Given the description of an element on the screen output the (x, y) to click on. 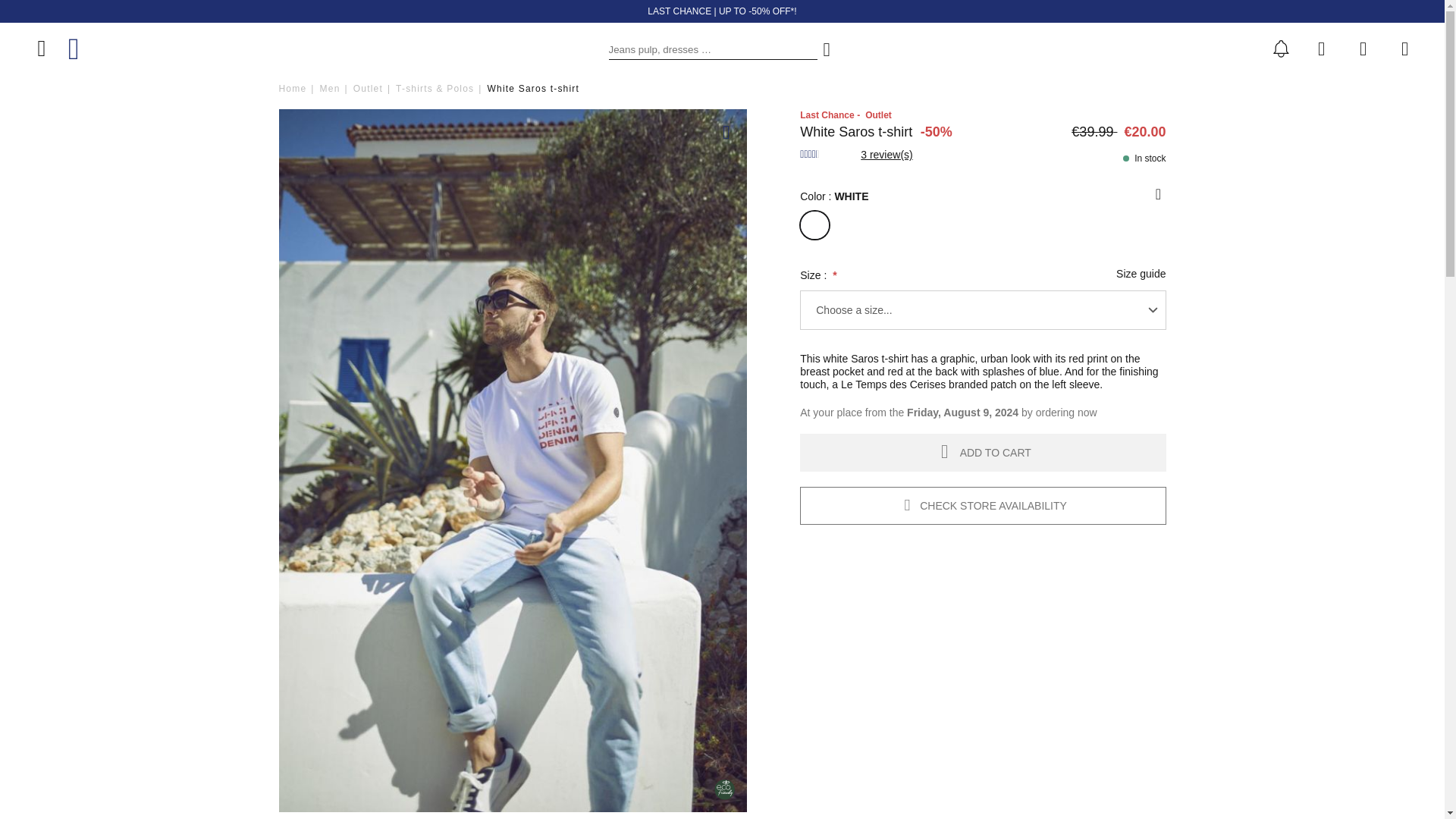
Search (825, 48)
Add to Cart (982, 452)
My Account (1363, 47)
Availability (1144, 158)
My Cart (1403, 47)
Go to Home Page (293, 88)
Le Temps des Cerises (94, 48)
Store Locator (1323, 47)
